Given the description of an element on the screen output the (x, y) to click on. 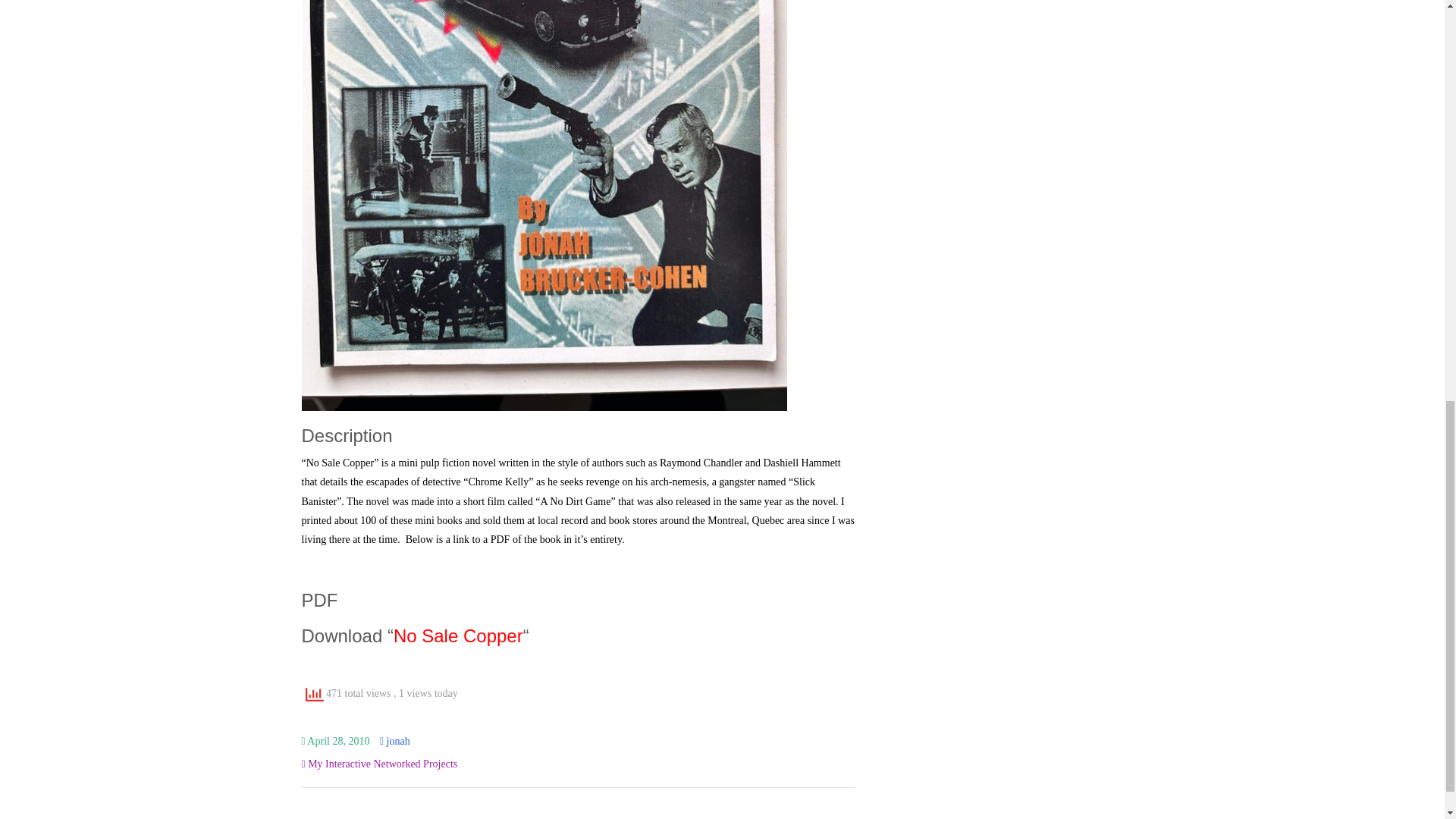
No Sale Copper (457, 635)
